Given the description of an element on the screen output the (x, y) to click on. 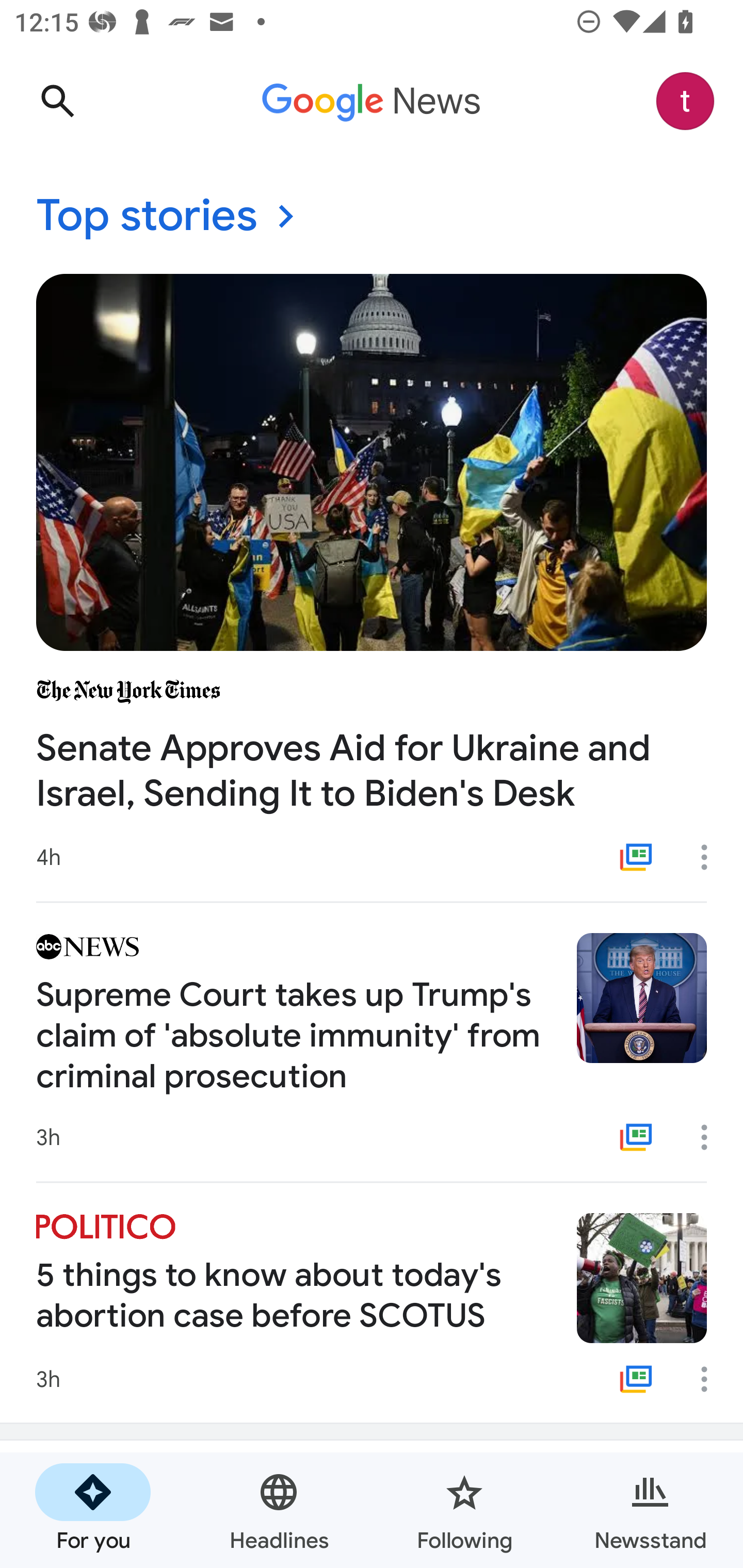
Search (57, 100)
Top stories (371, 216)
More options (711, 856)
More options (711, 1137)
More options (711, 1378)
For you (92, 1509)
Headlines (278, 1509)
Following (464, 1509)
Newsstand (650, 1509)
